Given the description of an element on the screen output the (x, y) to click on. 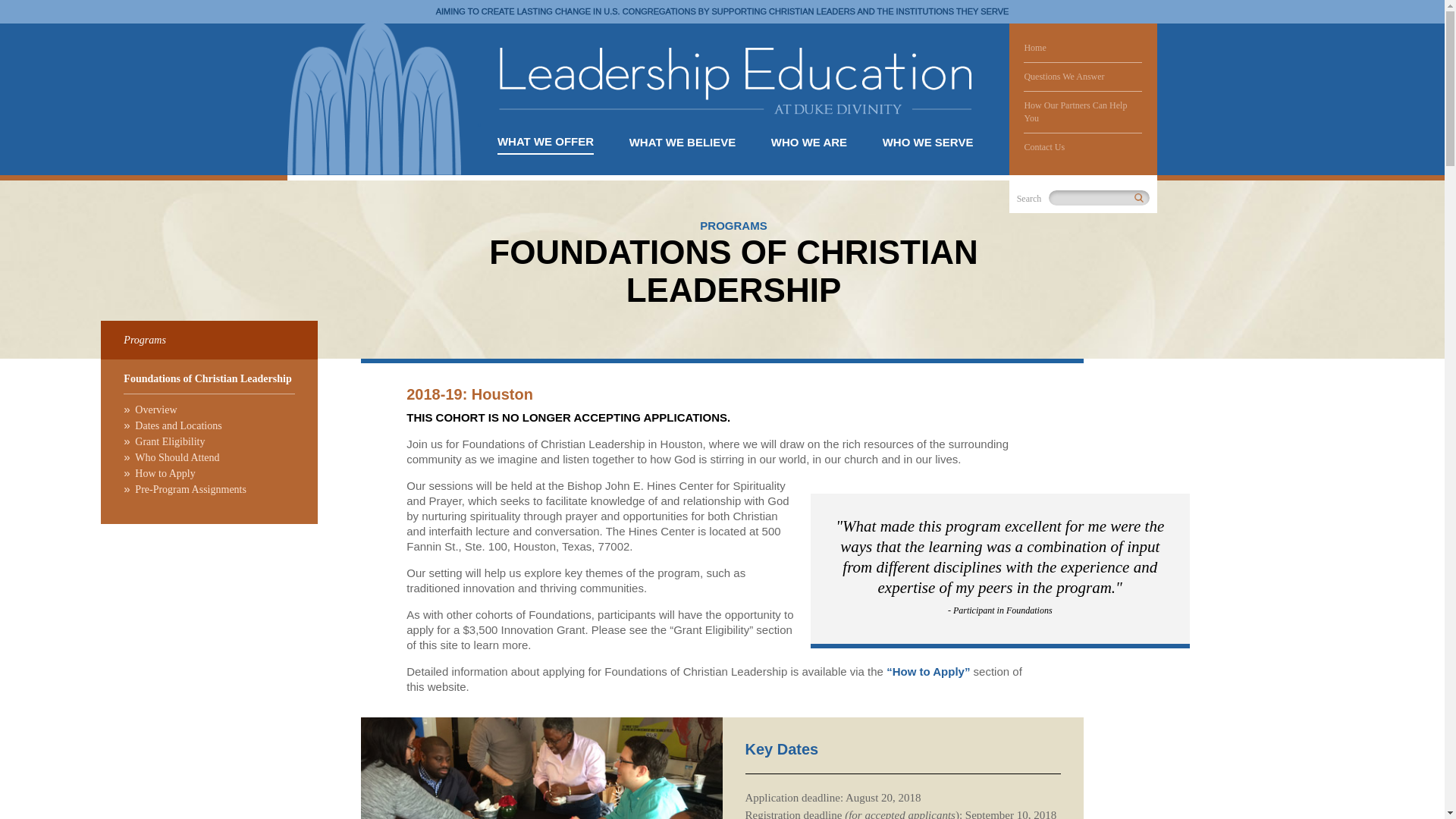
WHAT WE BELIEVE (682, 143)
WHO WE SERVE (735, 143)
WHAT WE OFFER (928, 143)
Programs (545, 143)
WHO WE ARE (144, 339)
